Given the description of an element on the screen output the (x, y) to click on. 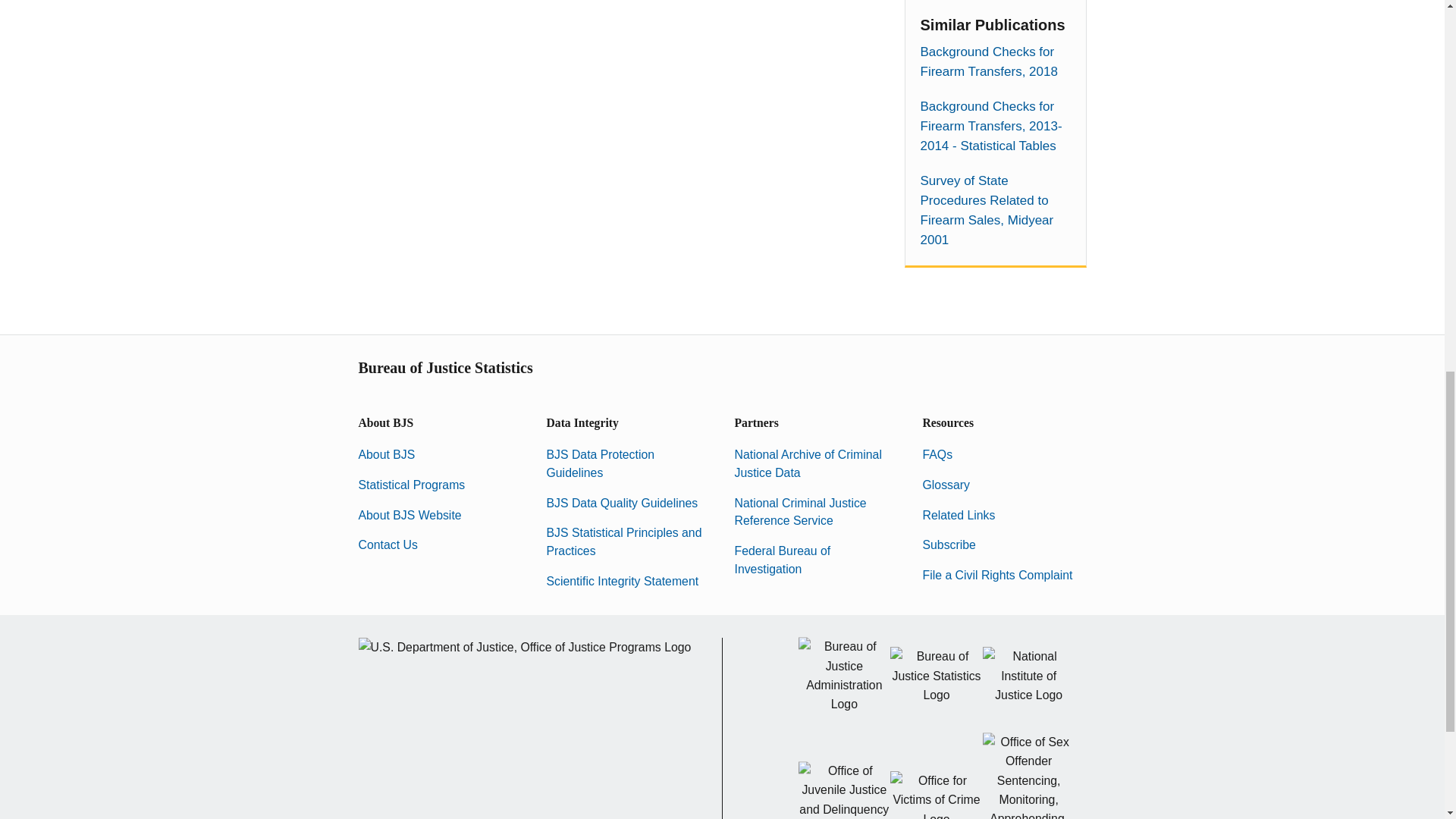
Background Checks for Firearm Transfers, 2018 (995, 61)
